Given the description of an element on the screen output the (x, y) to click on. 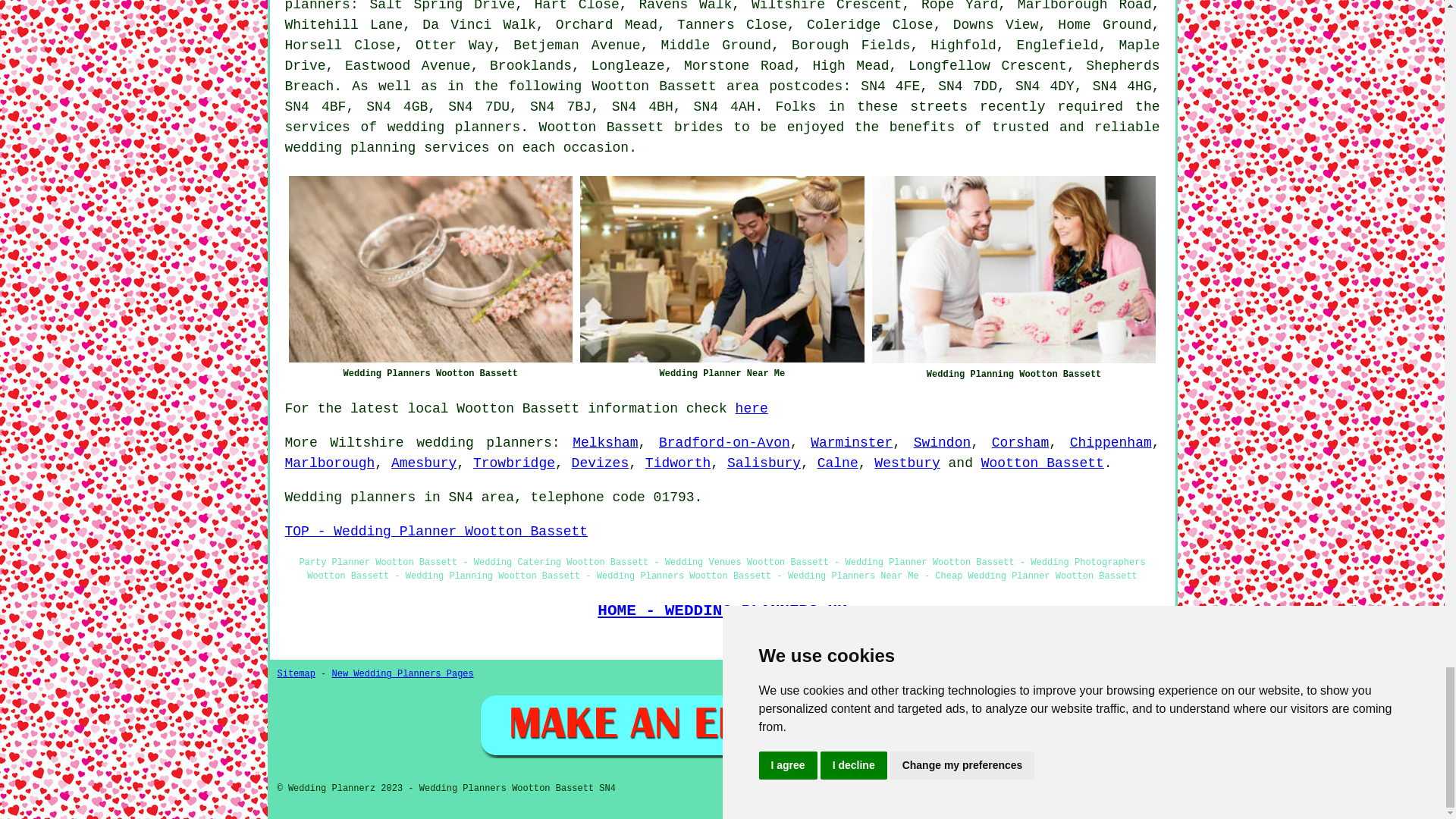
Wedding Planning Wootton Bassett UK (1014, 269)
Wedding Planner Near Me Wootton Bassett Wiltshire (721, 269)
Wedding Planners Wootton Bassett (430, 269)
